Given the description of an element on the screen output the (x, y) to click on. 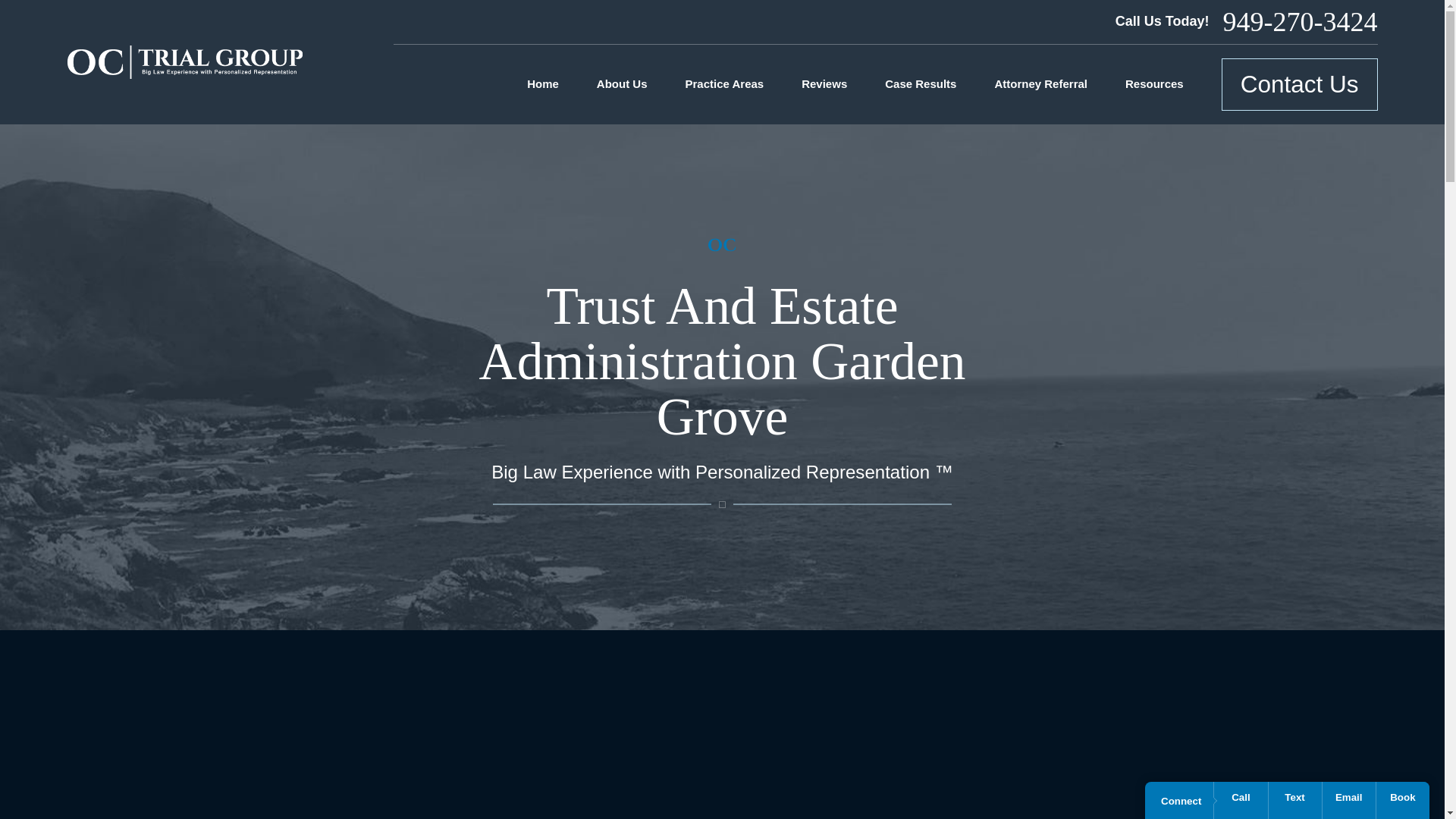
About Us (621, 84)
Attorney Referral (1040, 84)
Case Results (920, 84)
Resources (1154, 84)
Home (183, 61)
Practice Areas (724, 84)
949-270-3424 (1300, 22)
